Given the description of an element on the screen output the (x, y) to click on. 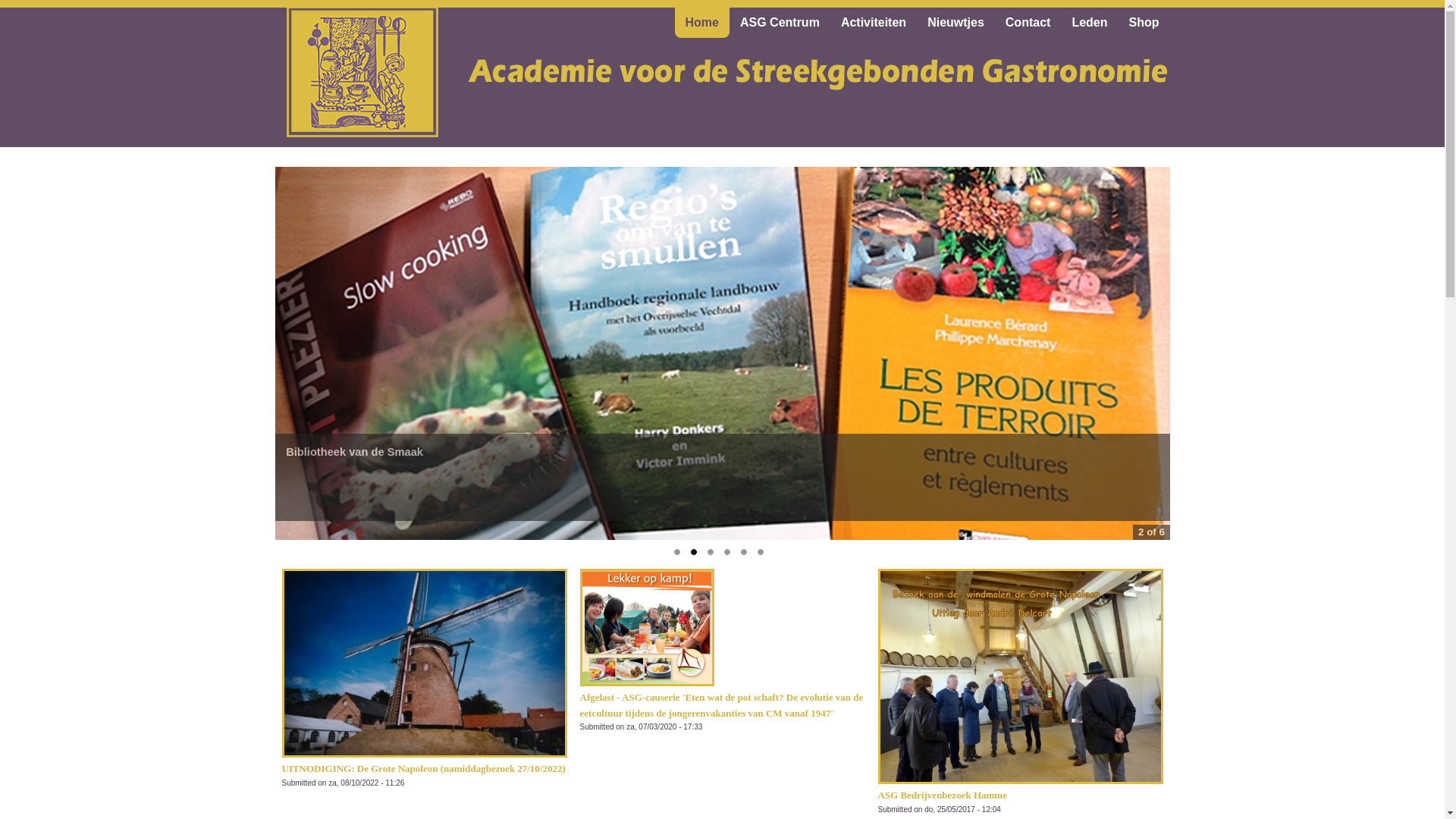
ASG Centrum Element type: text (779, 22)
Activiteiten Element type: text (873, 22)
Zoeken Element type: text (56, 7)
ASG Bedrijvenbezoek Hamme Element type: text (942, 790)
Shop Element type: text (1143, 22)
Nieuwtjes Element type: text (955, 22)
Home Element type: text (701, 22)
Contact Element type: text (1027, 22)
UITNODIGING: De Grote Napoleon (namiddagbezoek 27/10/2022) Element type: text (423, 763)
Leden Element type: text (1088, 22)
